Given the description of an element on the screen output the (x, y) to click on. 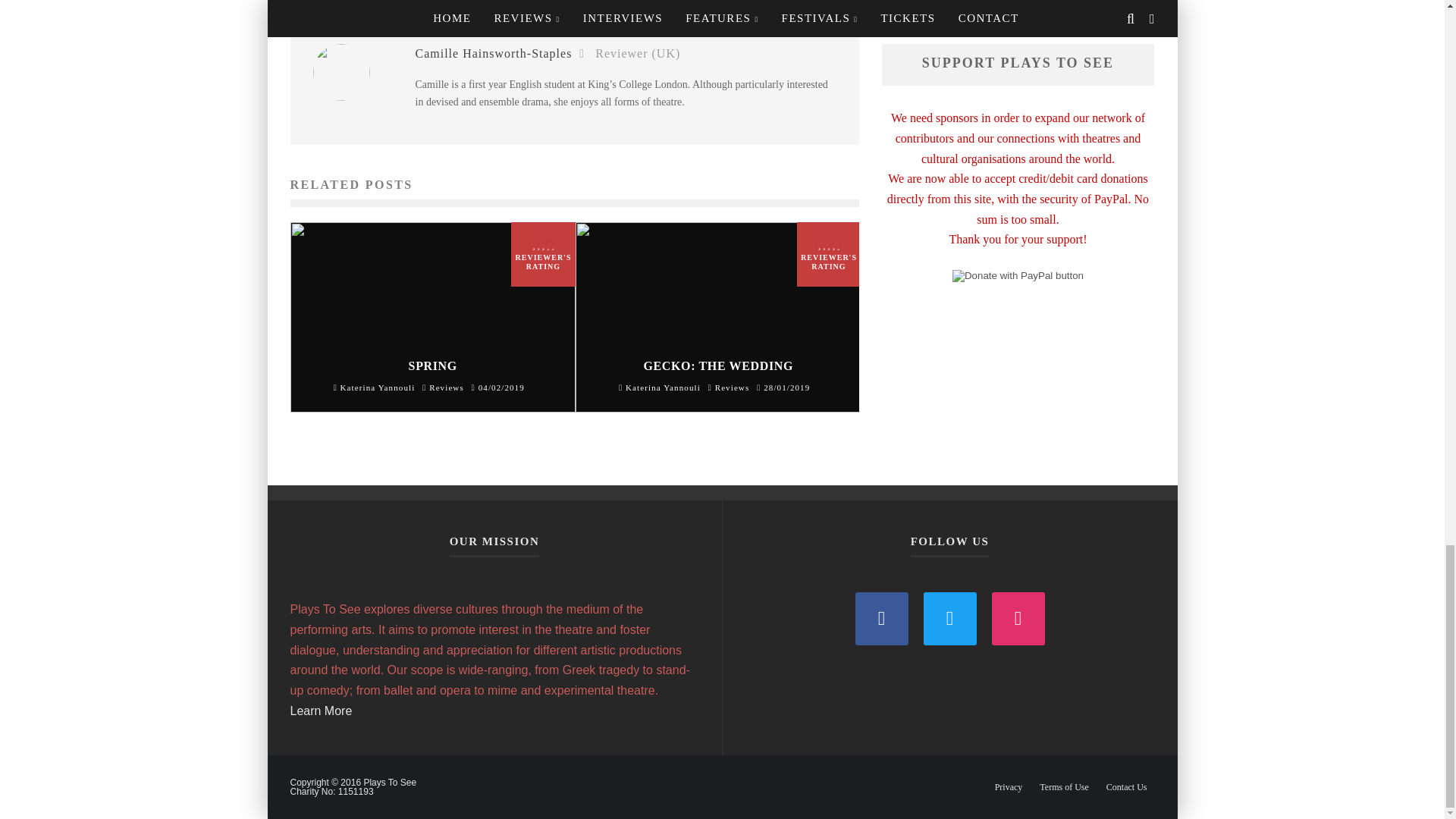
PayPal - The safer, easier way to pay online! (1017, 275)
